Given the description of an element on the screen output the (x, y) to click on. 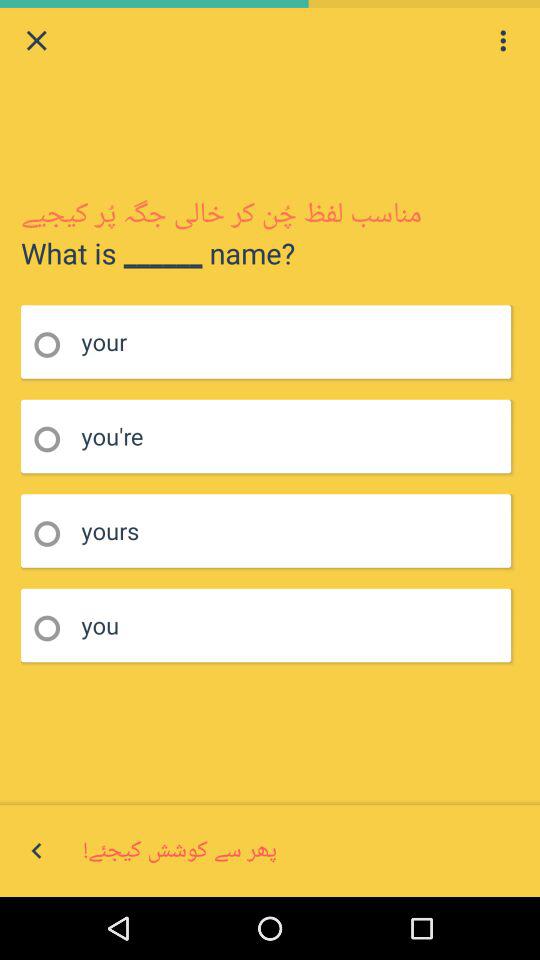
opens an options menu (503, 40)
